Given the description of an element on the screen output the (x, y) to click on. 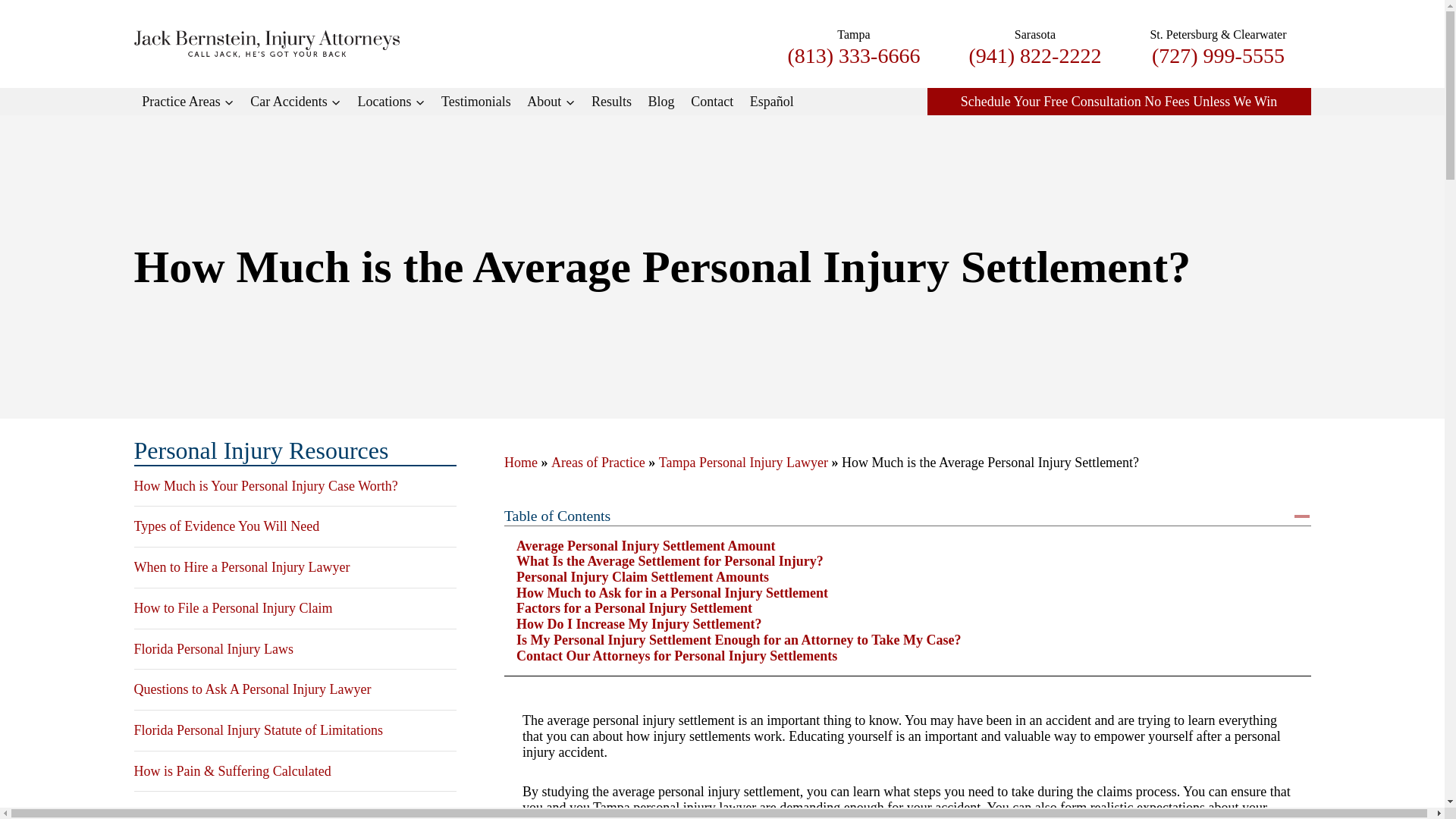
Testimonials (475, 101)
Practice Areas (187, 101)
Car Accidents (296, 101)
About (551, 101)
Locations (391, 101)
